Given the description of an element on the screen output the (x, y) to click on. 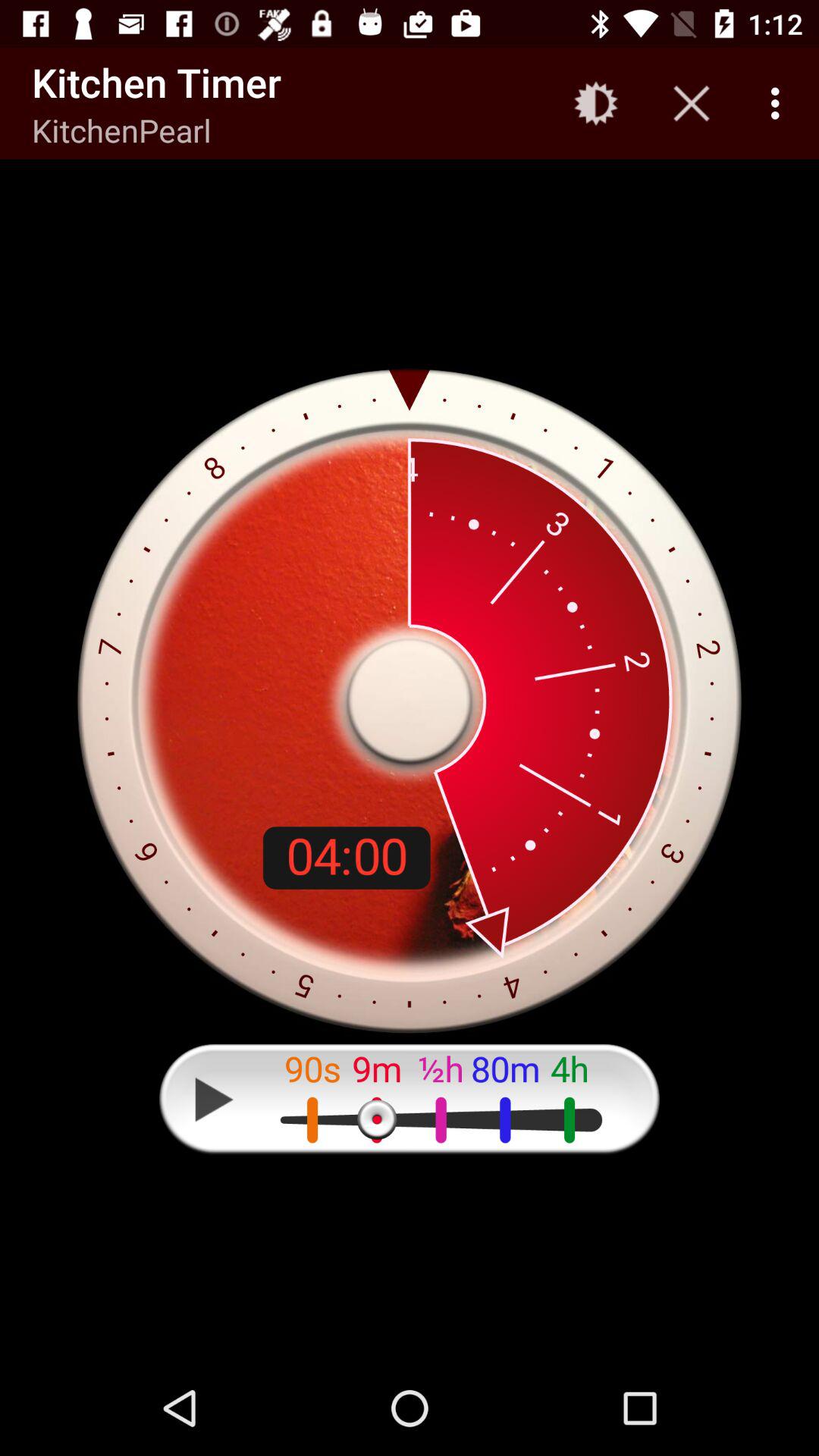
select the icon at the bottom left corner (214, 1099)
